Given the description of an element on the screen output the (x, y) to click on. 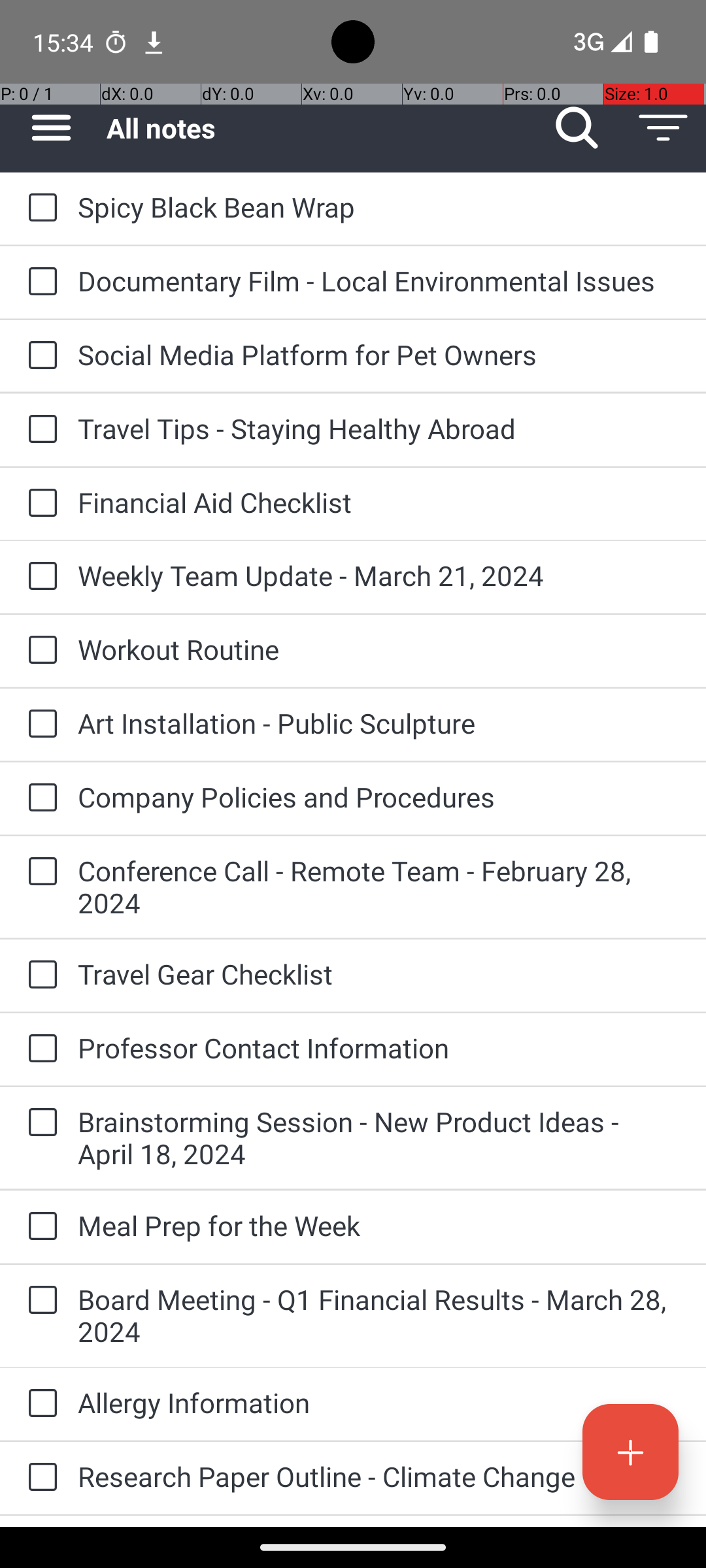
to-do: Spicy Black Bean Wrap Element type: android.widget.CheckBox (38, 208)
Spicy Black Bean Wrap Element type: android.widget.TextView (378, 206)
to-do: Documentary Film - Local Environmental Issues Element type: android.widget.CheckBox (38, 282)
Documentary Film - Local Environmental Issues Element type: android.widget.TextView (378, 280)
to-do: Social Media Platform for Pet Owners Element type: android.widget.CheckBox (38, 356)
to-do: Travel Tips - Staying Healthy Abroad Element type: android.widget.CheckBox (38, 429)
Travel Tips - Staying Healthy Abroad Element type: android.widget.TextView (378, 427)
to-do: Weekly Team Update - March 21, 2024 Element type: android.widget.CheckBox (38, 576)
Weekly Team Update - March 21, 2024 Element type: android.widget.TextView (378, 574)
to-do: Workout Routine Element type: android.widget.CheckBox (38, 650)
Workout Routine Element type: android.widget.TextView (378, 648)
to-do: Art Installation - Public Sculpture Element type: android.widget.CheckBox (38, 724)
Art Installation - Public Sculpture Element type: android.widget.TextView (378, 722)
to-do: Company Policies and Procedures Element type: android.widget.CheckBox (38, 798)
Company Policies and Procedures Element type: android.widget.TextView (378, 796)
to-do: Conference Call - Remote Team - February 28, 2024 Element type: android.widget.CheckBox (38, 872)
Conference Call - Remote Team - February 28, 2024 Element type: android.widget.TextView (378, 886)
to-do: Travel Gear Checklist Element type: android.widget.CheckBox (38, 975)
Travel Gear Checklist Element type: android.widget.TextView (378, 973)
to-do: Professor Contact Information Element type: android.widget.CheckBox (38, 1049)
Professor Contact Information Element type: android.widget.TextView (378, 1047)
to-do: Brainstorming Session - New Product Ideas - April 18, 2024 Element type: android.widget.CheckBox (38, 1123)
Brainstorming Session - New Product Ideas - April 18, 2024 Element type: android.widget.TextView (378, 1137)
to-do: Meal Prep for the Week Element type: android.widget.CheckBox (38, 1227)
to-do: Board Meeting - Q1 Financial Results - March 28, 2024 Element type: android.widget.CheckBox (38, 1300)
Board Meeting - Q1 Financial Results - March 28, 2024 Element type: android.widget.TextView (378, 1314)
to-do: Allergy Information Element type: android.widget.CheckBox (38, 1403)
Allergy Information Element type: android.widget.TextView (378, 1402)
to-do: Research Paper Outline - Climate Change Element type: android.widget.CheckBox (38, 1477)
Research Paper Outline - Climate Change Element type: android.widget.TextView (378, 1475)
to-do: Strategic Planning Meeting - January 24, 2024 Element type: android.widget.CheckBox (38, 1520)
